Given the description of an element on the screen output the (x, y) to click on. 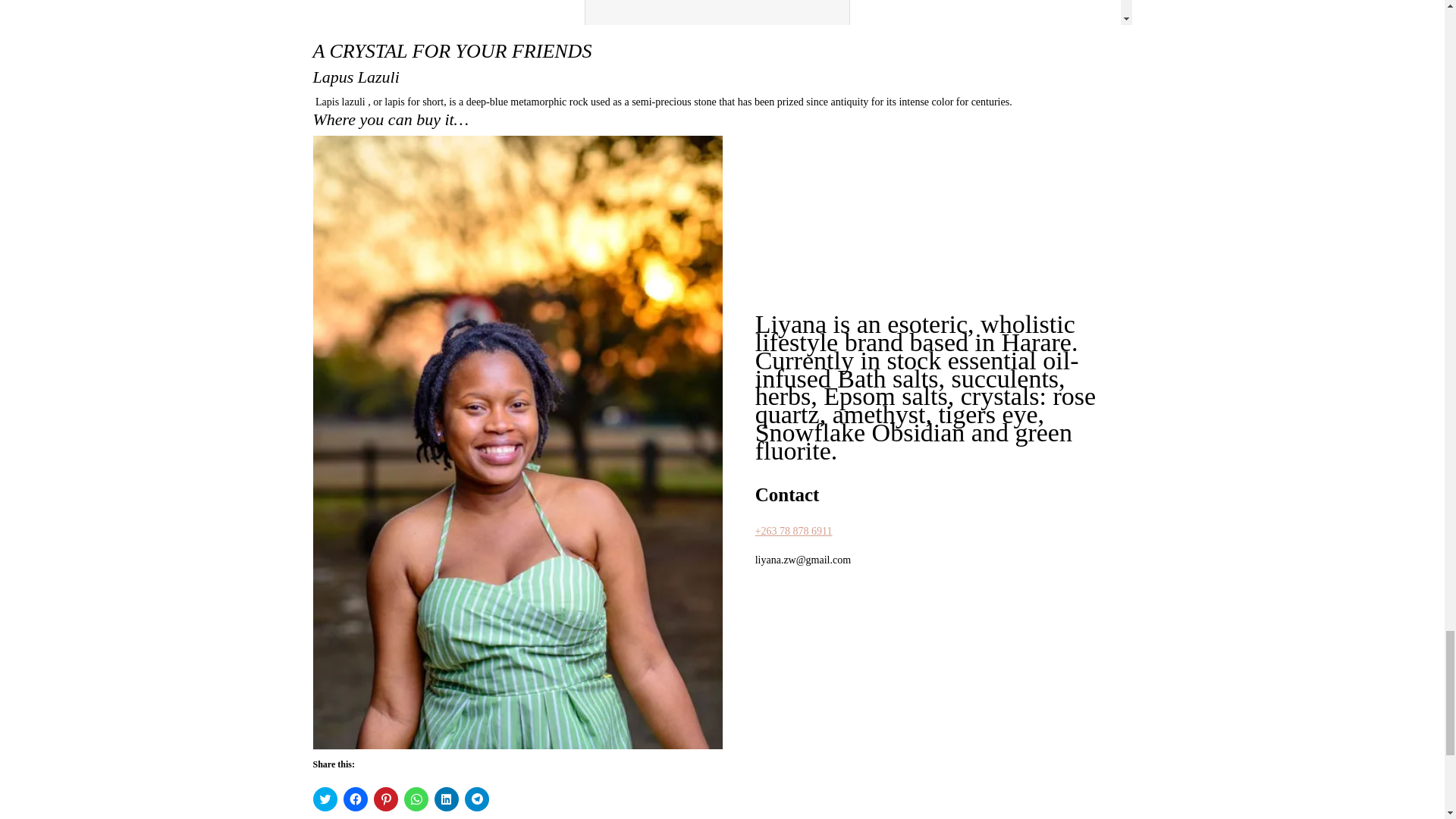
Click to share on Facebook (354, 799)
Click to share on LinkedIn (445, 799)
The Kings That Didn't Need This Queen (722, 12)
Click to share on Telegram (475, 799)
Click to share on Twitter (324, 799)
Click to share on Pinterest (384, 799)
Click to share on WhatsApp (415, 799)
